Given the description of an element on the screen output the (x, y) to click on. 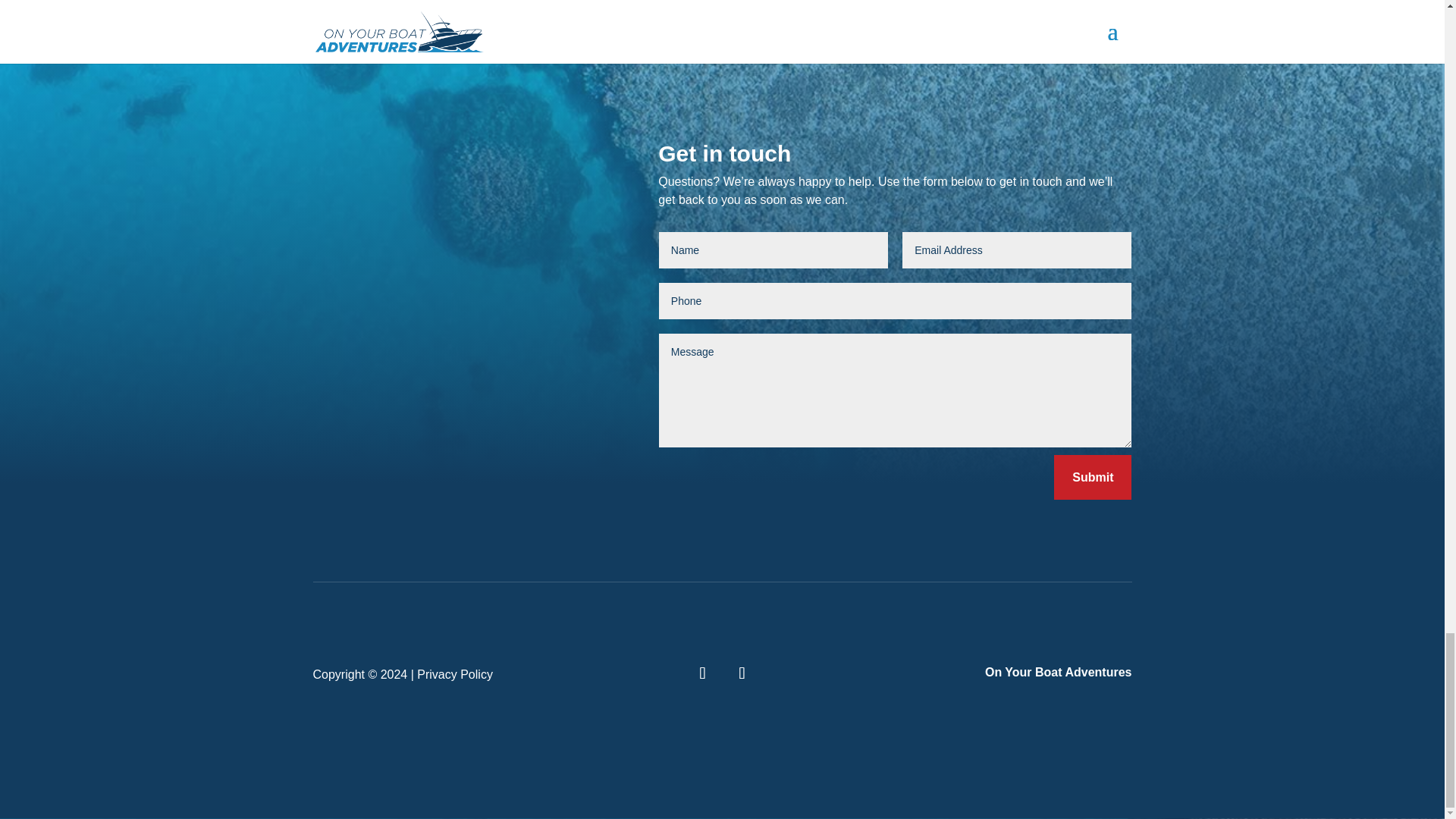
Submit (1092, 477)
Privacy Policy (454, 674)
Follow on Instagram (741, 673)
Follow on Facebook (702, 673)
